Given the description of an element on the screen output the (x, y) to click on. 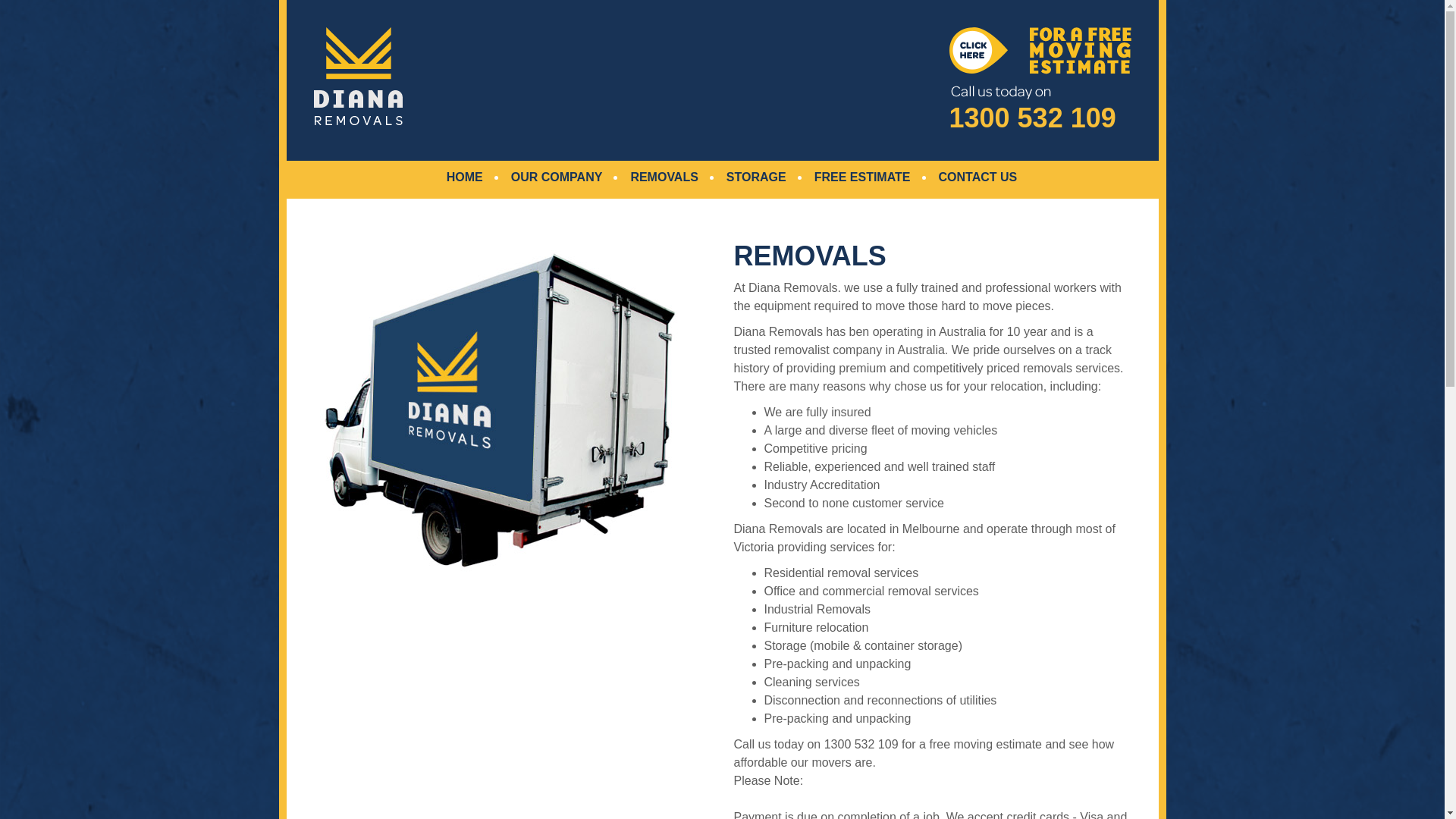
1300 532 109 Element type: text (1040, 80)
CONTACT US Element type: text (977, 176)
STORAGE Element type: text (756, 176)
FREE ESTIMATE Element type: text (862, 176)
REMOVALS Element type: text (663, 176)
HOME Element type: text (464, 176)
OUR COMPANY Element type: text (556, 176)
Diana Removals Element type: hover (357, 76)
